Given the description of an element on the screen output the (x, y) to click on. 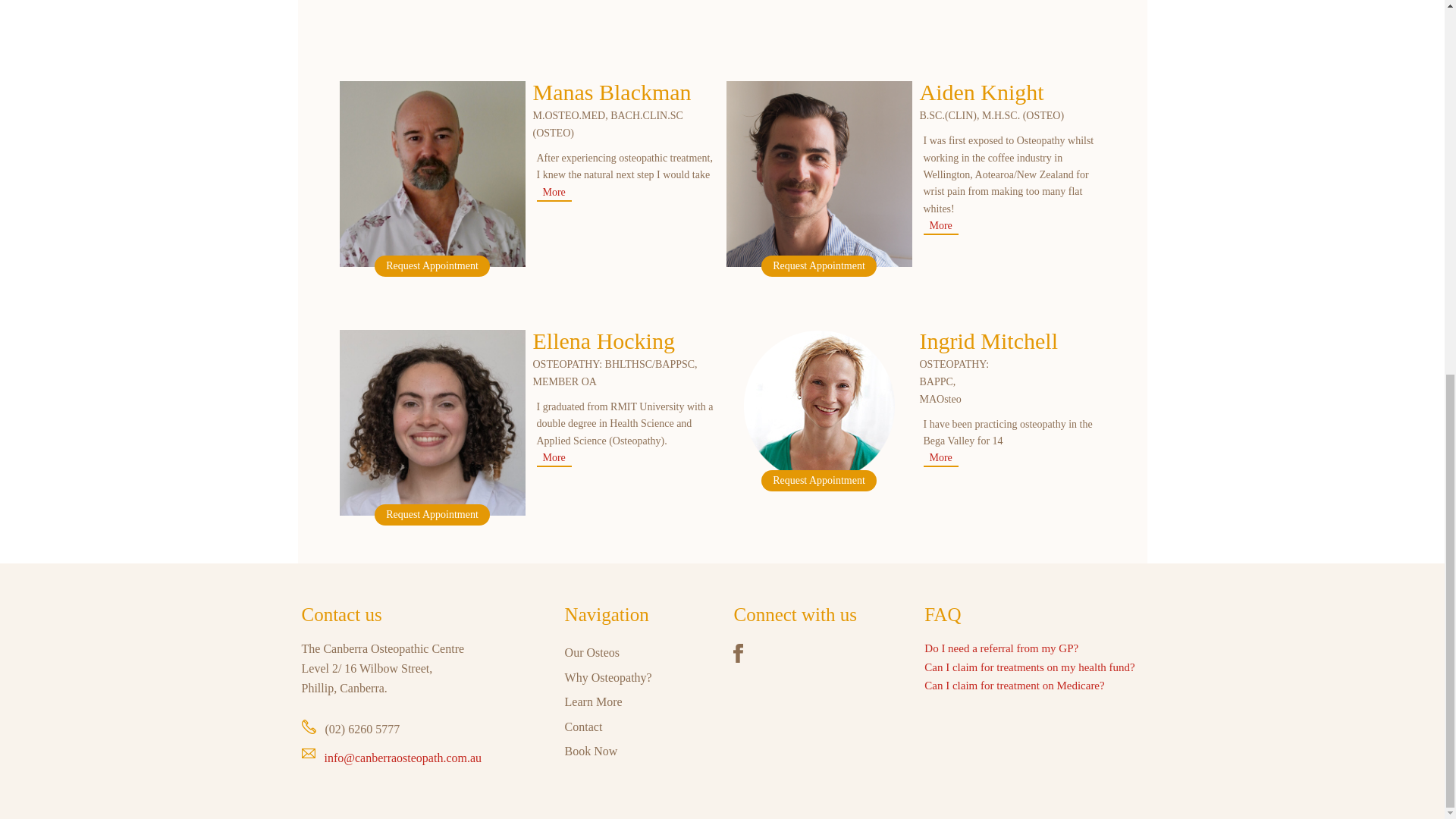
Request Appointment (818, 265)
Request Appointment (818, 480)
More (940, 459)
Why Osteopathy? (608, 676)
More (940, 227)
More (554, 193)
Book Now (590, 750)
Learn More (593, 701)
Can I claim for treatment on Medicare? (1013, 685)
Request Appointment (431, 514)
Request Appointment (431, 265)
Our Osteos (592, 652)
Do I need a referral from my GP? (1001, 648)
More (554, 459)
Contact (583, 726)
